Given the description of an element on the screen output the (x, y) to click on. 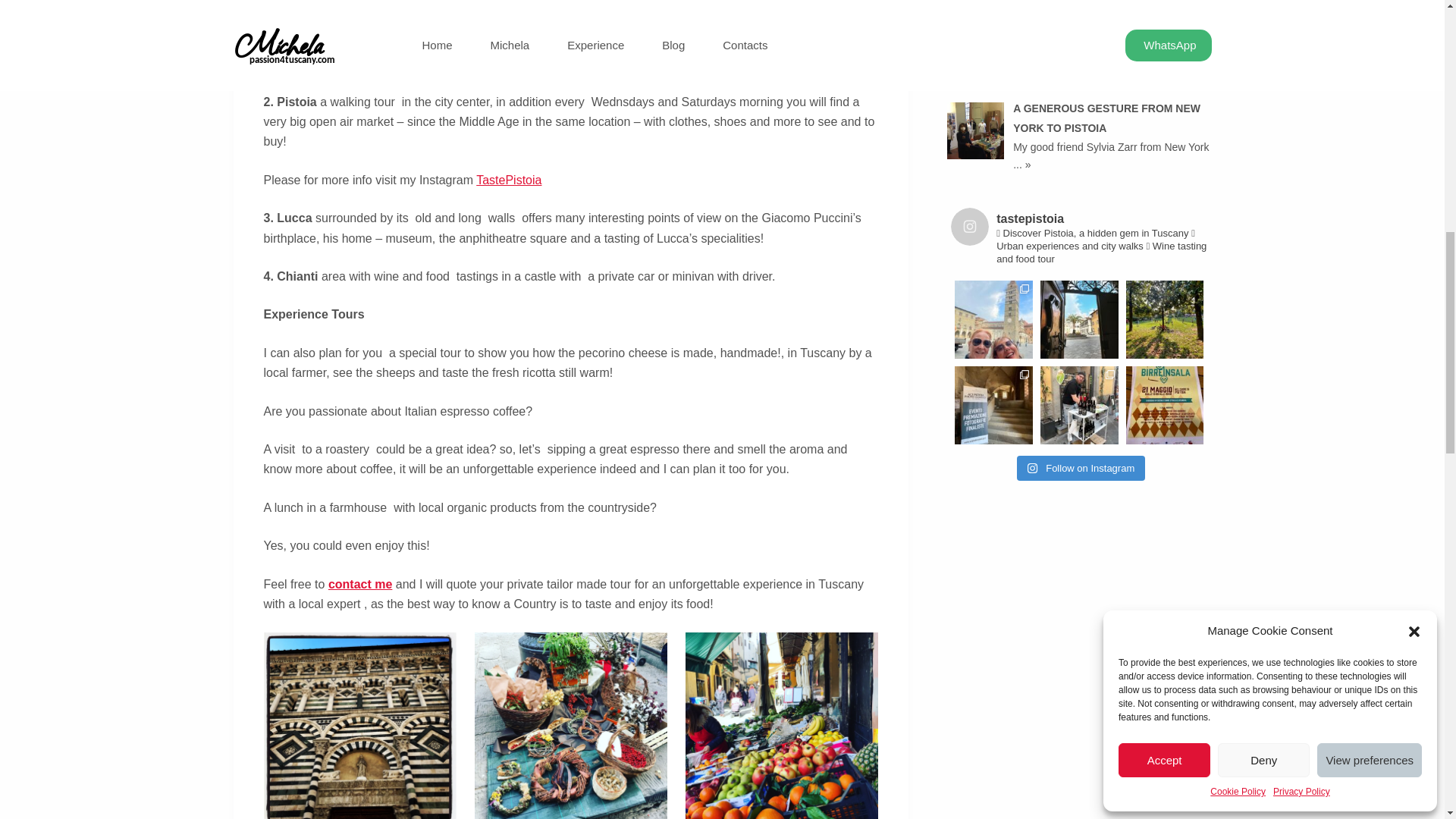
contact me (360, 584)
TastePistoia (508, 179)
